Given the description of an element on the screen output the (x, y) to click on. 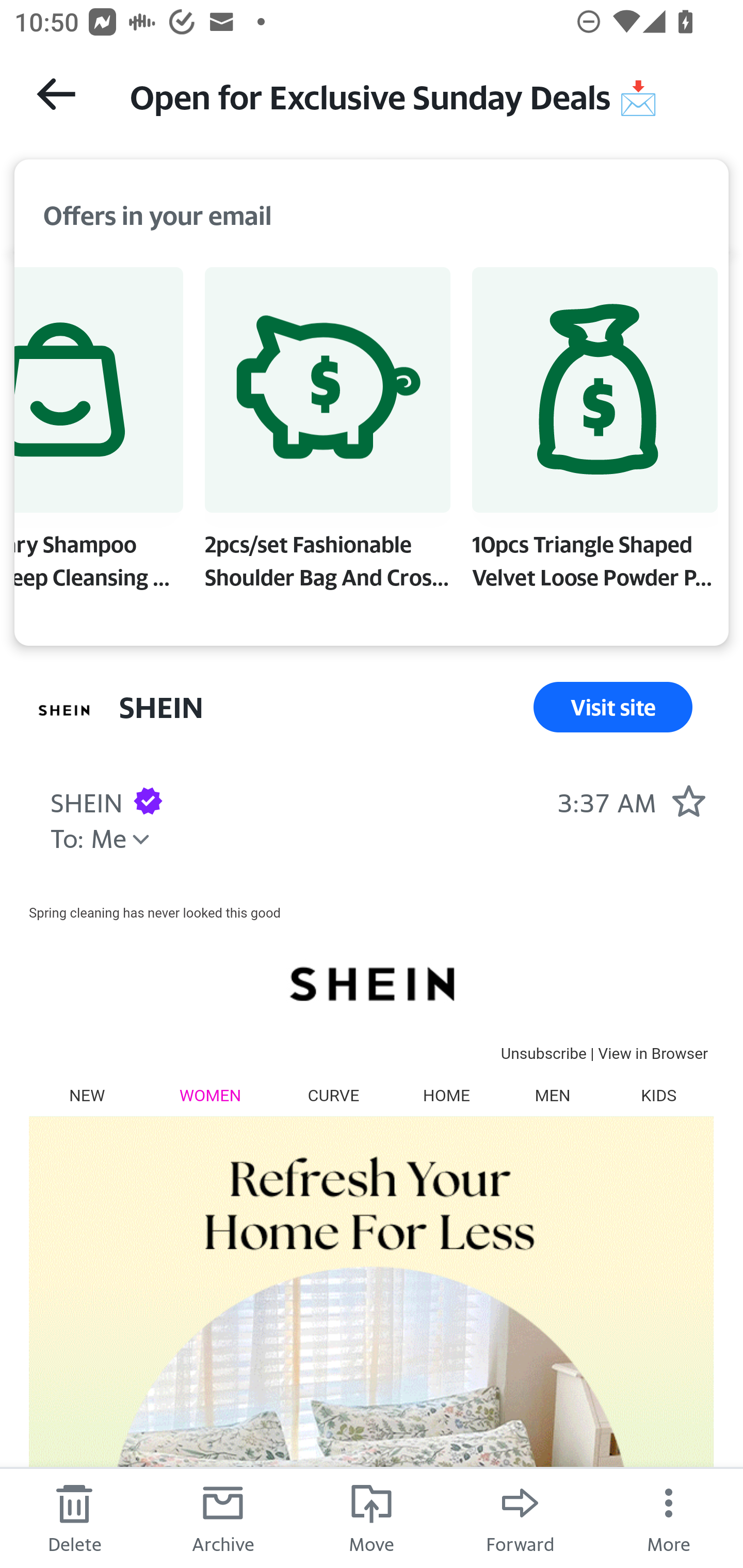
Back (55, 93)
Open for Exclusive Sunday Deals 📩 (418, 94)
View all messages from sender (64, 711)
Visit site Visit Site Link (612, 707)
SHEIN Sender SHEIN (160, 706)
SHEIN Sender SHEIN (86, 800)
Mark as starred. (688, 800)
Spring cleaning has never looked this good (154, 912)
SHEIN (370, 982)
Unsubscribe (543, 1052)
View in Browser (652, 1052)
NEW (86, 1095)
WOMEN (210, 1095)
CURVE (333, 1095)
HOME (445, 1095)
MEN (552, 1095)
KIDS (658, 1095)
REFRESH YOUR HOME FOR LESS (370, 1342)
Delete (74, 1517)
Archive (222, 1517)
Move (371, 1517)
Forward (519, 1517)
More (668, 1517)
